Given the description of an element on the screen output the (x, y) to click on. 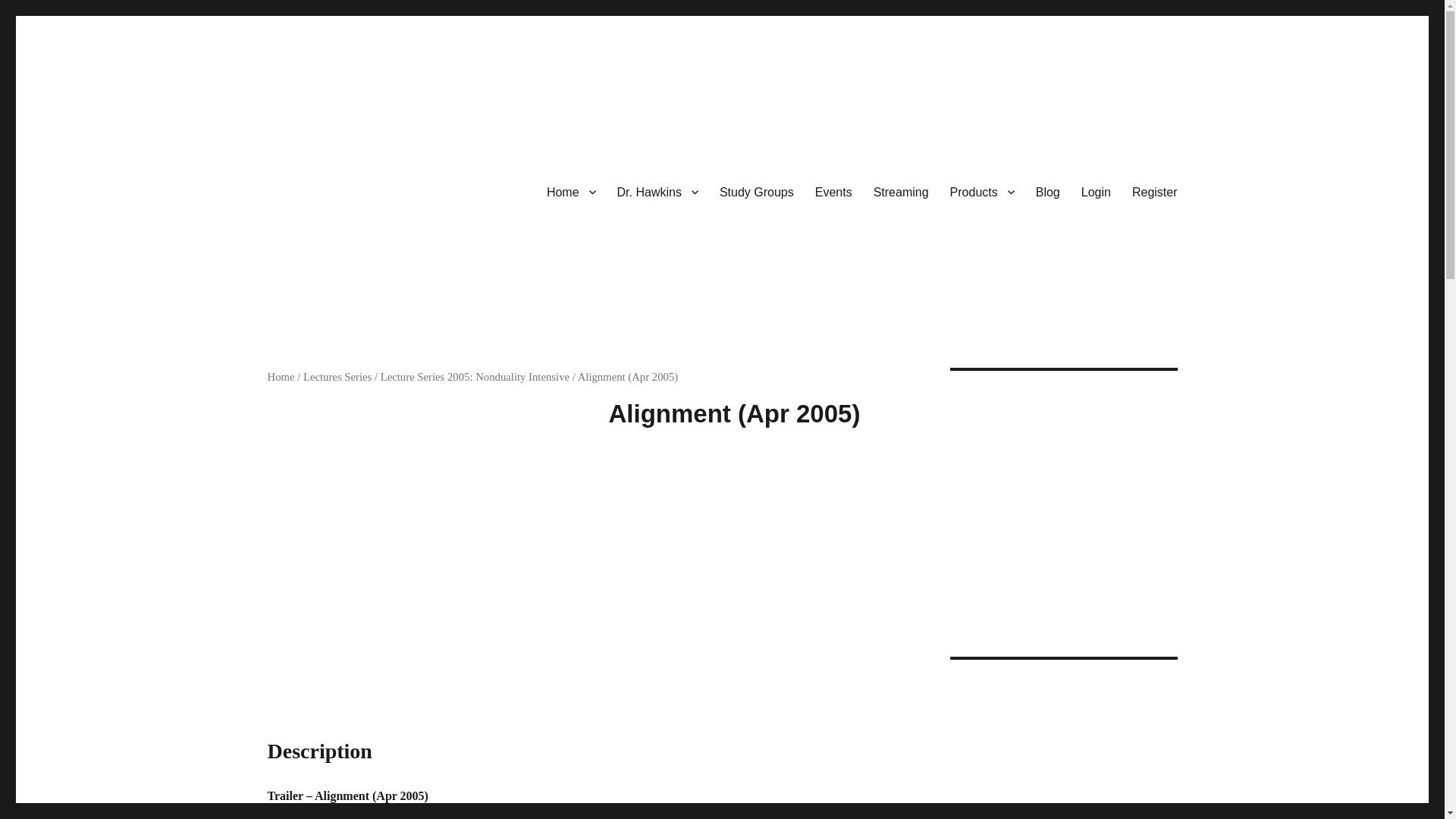
David R. Hawkins (355, 306)
Lectures Series (336, 377)
Login (1095, 192)
Lecture Series 2005: Nonduality Intensive (474, 377)
Events (834, 192)
Blog (1047, 192)
Home (571, 192)
Products (982, 192)
Study Groups (757, 192)
Register (1154, 192)
Streaming (901, 192)
Dr. Hawkins (658, 192)
Home (280, 377)
